Given the description of an element on the screen output the (x, y) to click on. 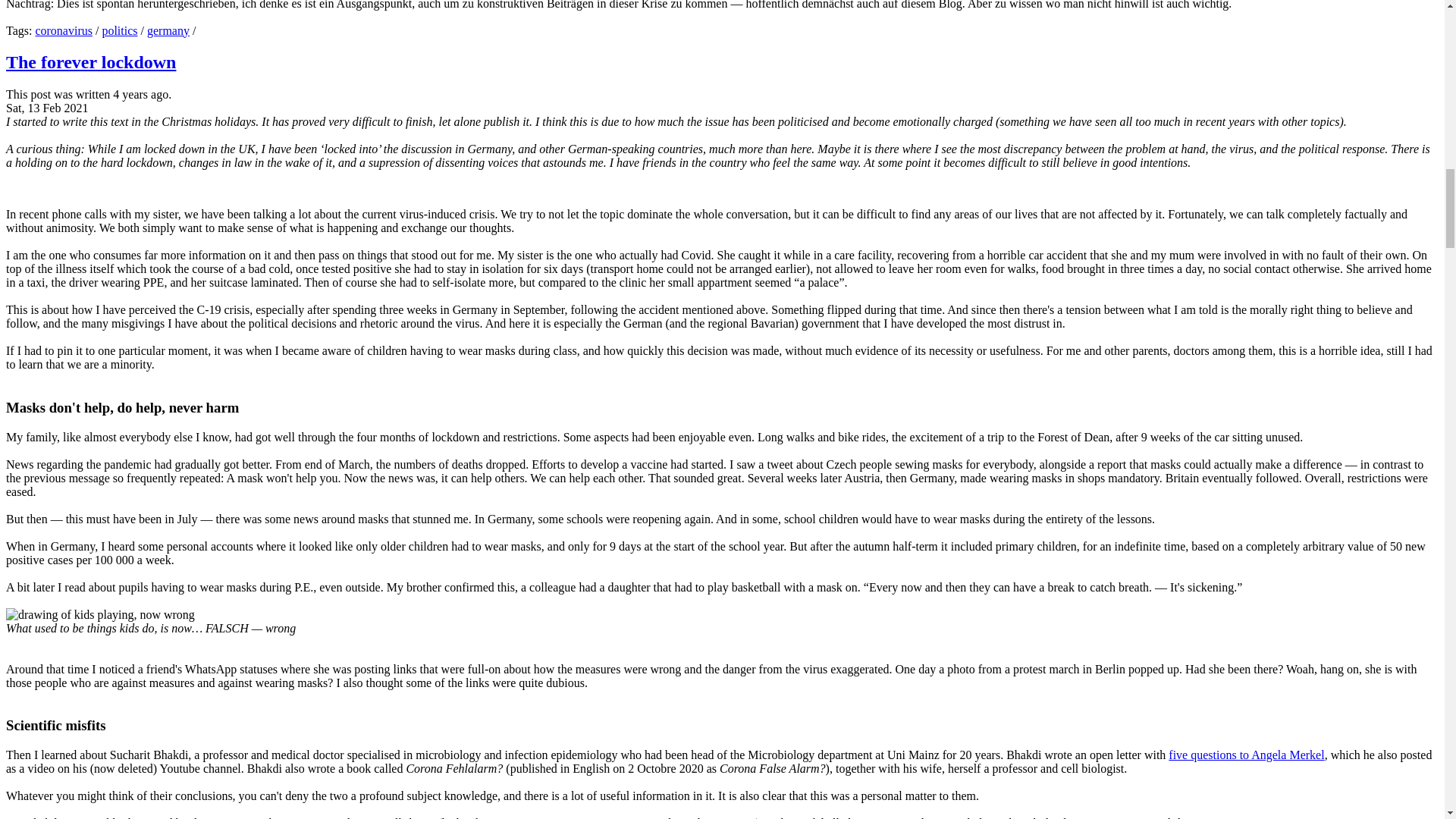
coronavirus (63, 30)
five questions to Angela Merkel (1246, 754)
germany (168, 30)
politics (118, 30)
